Given the description of an element on the screen output the (x, y) to click on. 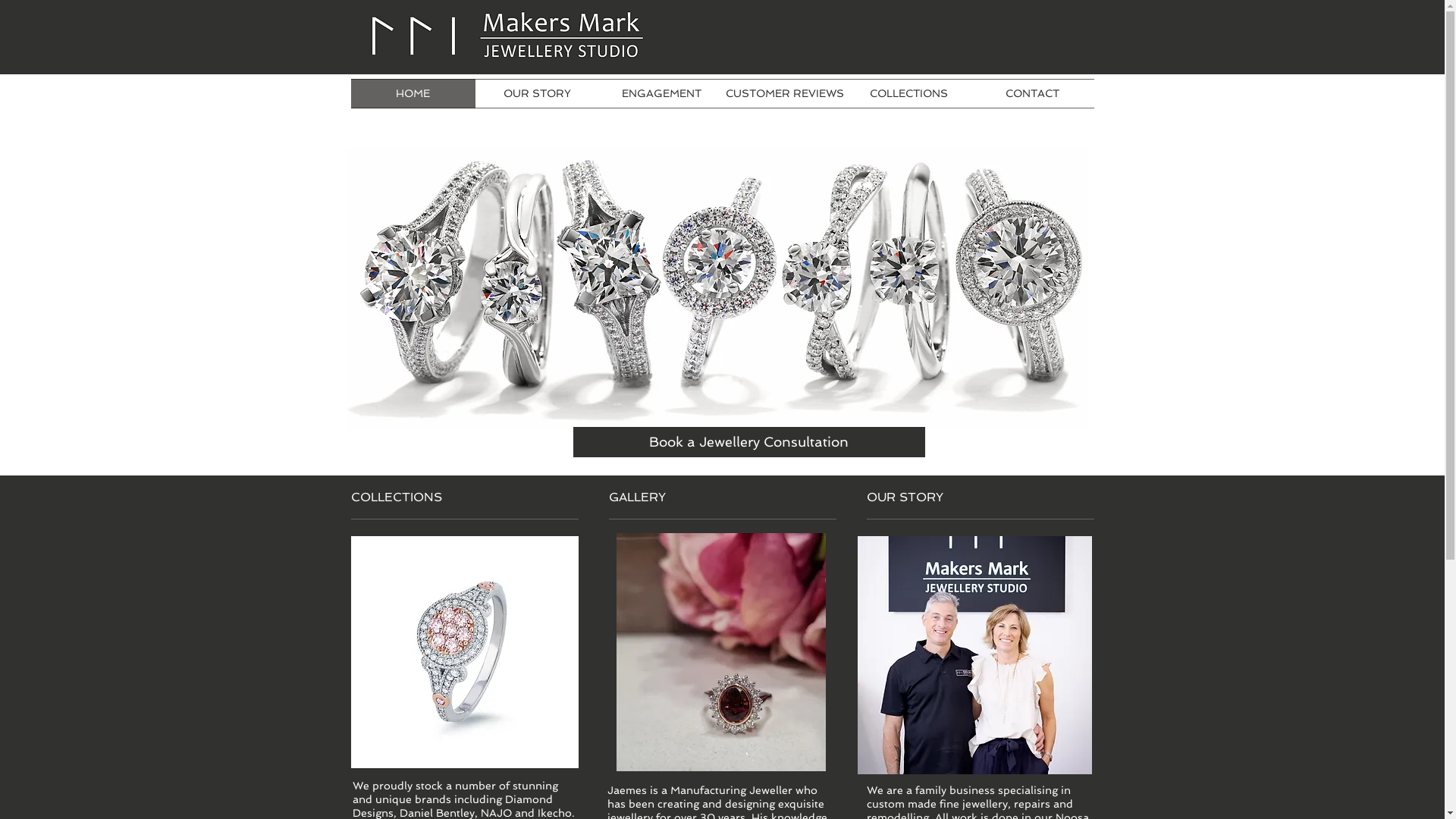
CUSTOMER REVIEWS Element type: text (785, 93)
Book a Jewellery Consultation Element type: text (749, 441)
ENGAGEMENT Element type: text (660, 93)
CONTACT Element type: text (1032, 93)
OUR STORY Element type: text (536, 93)
HOME Element type: text (412, 93)
11102779_1571066359815288_2717727257295022602_n.jpg Element type: hover (973, 655)
COLLECTIONS Element type: text (907, 93)
